Given the description of an element on the screen output the (x, y) to click on. 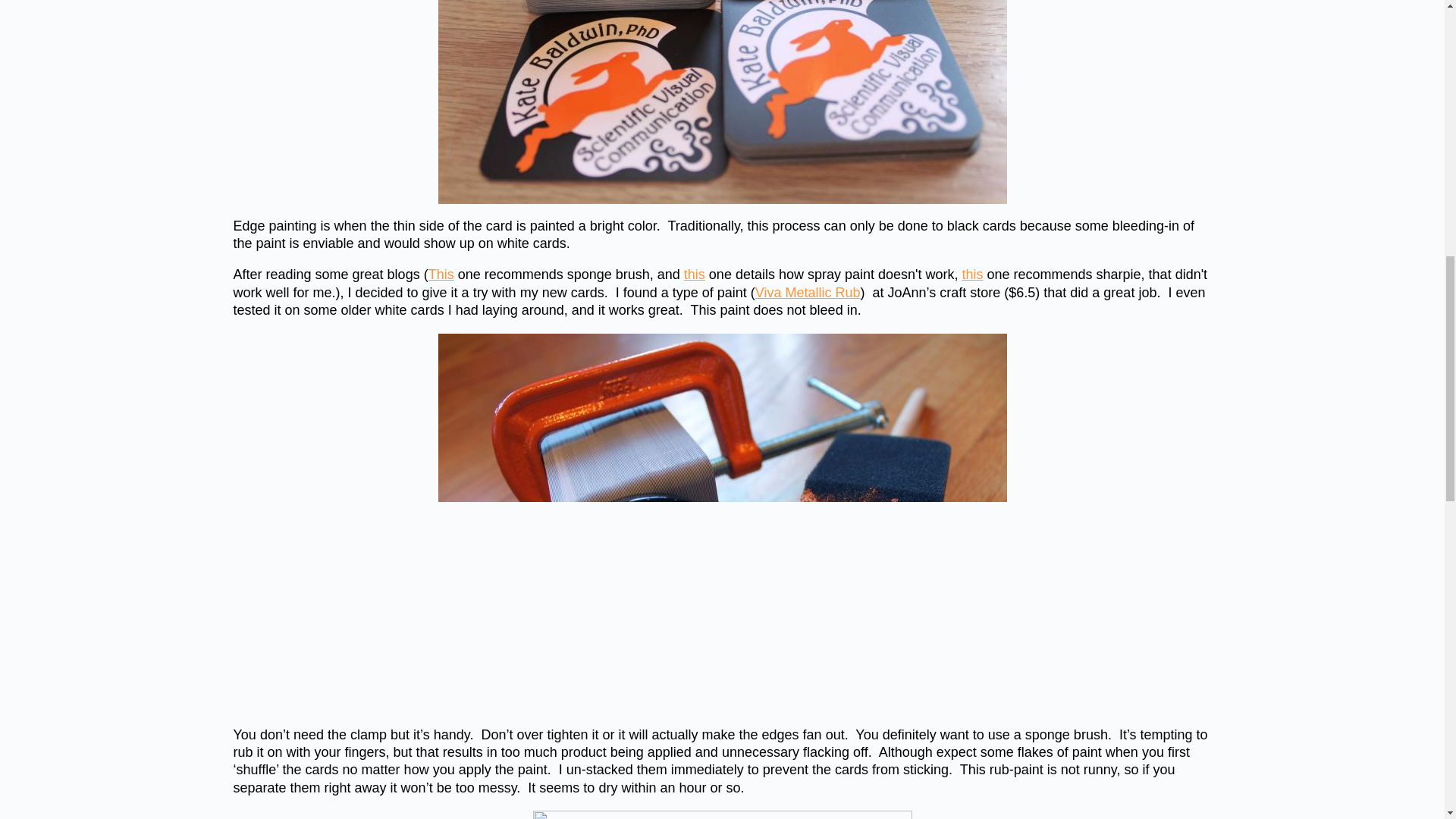
this (971, 273)
This (441, 273)
this (694, 273)
Viva Metallic Rub (807, 292)
